Given the description of an element on the screen output the (x, y) to click on. 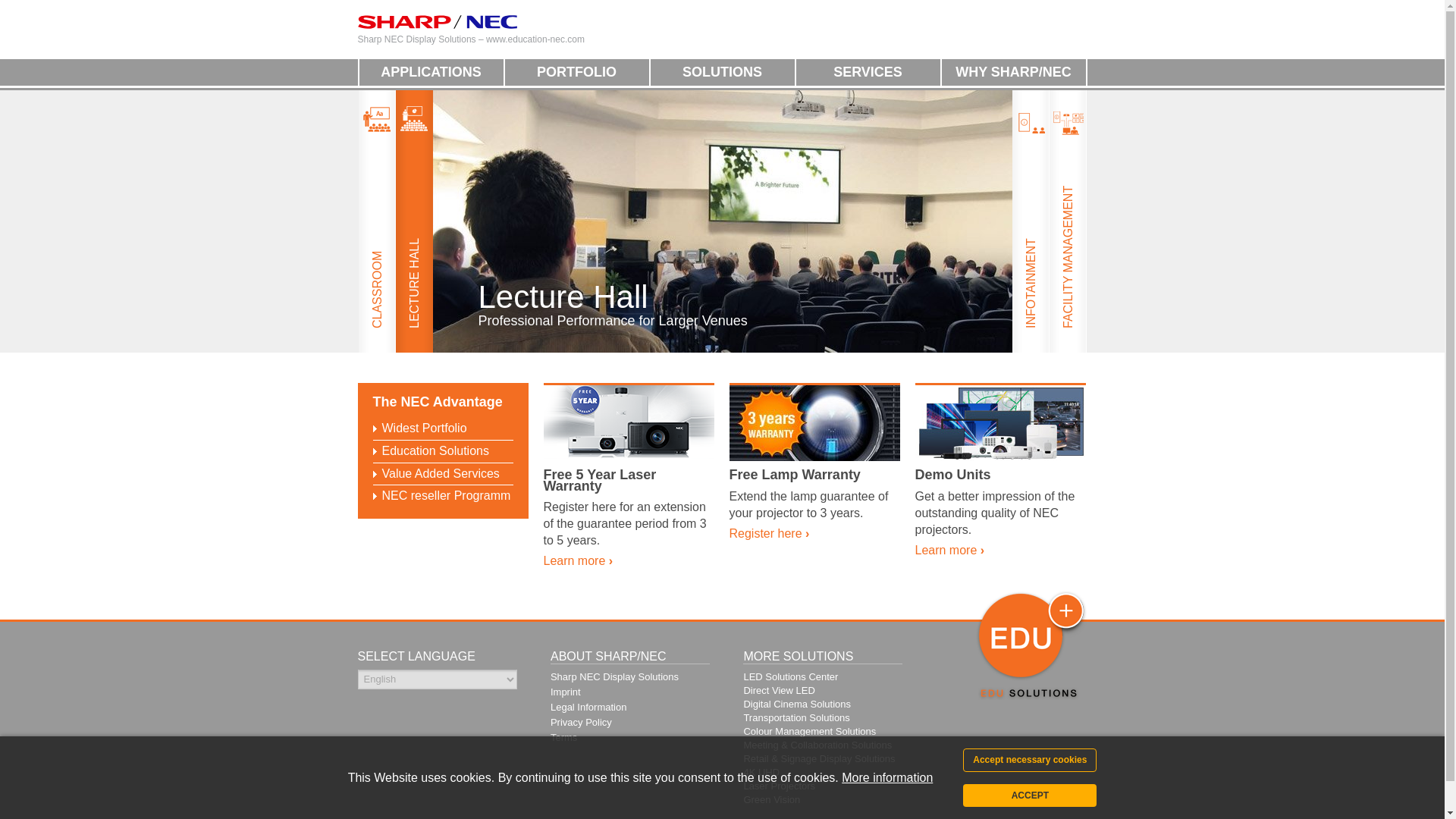
SOLUTIONS (722, 71)
Digital Cinema Solutions (796, 704)
Sharp NEC Display Solutions (614, 676)
Direct View LED (777, 690)
Transportation Solutions (795, 717)
Transportation Solutions (795, 717)
Legal Information (588, 706)
Direct View LED (777, 690)
Green Vision (770, 799)
Learn more (577, 560)
